Given the description of an element on the screen output the (x, y) to click on. 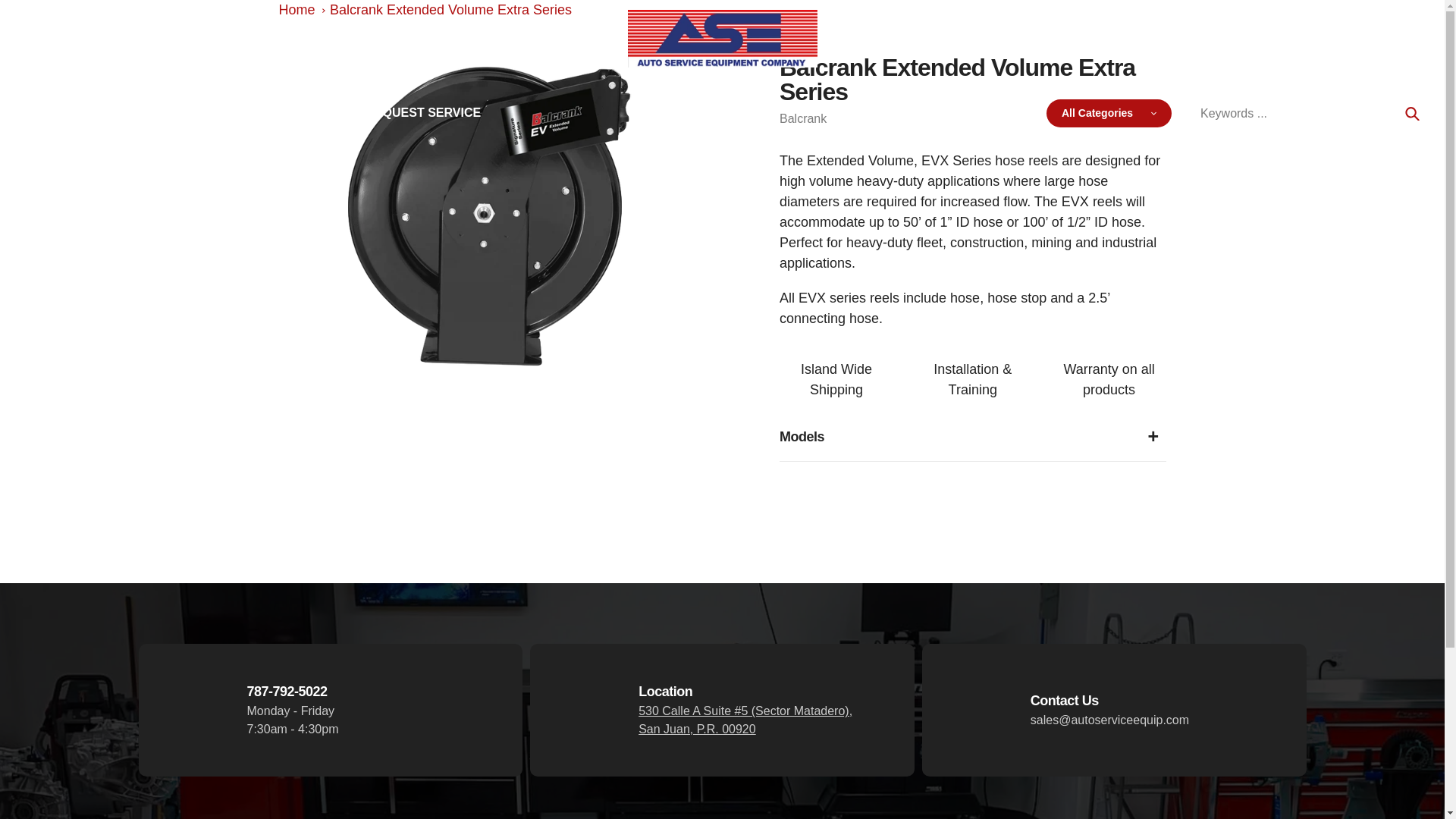
HOME (32, 113)
English (1406, 38)
REQUEST SERVICE (422, 113)
All Categories (1109, 113)
ABOUT US (304, 113)
CONTACT (212, 113)
Balcrank (802, 118)
787-792-5022 (198, 38)
CATALOG (116, 113)
